Given the description of an element on the screen output the (x, y) to click on. 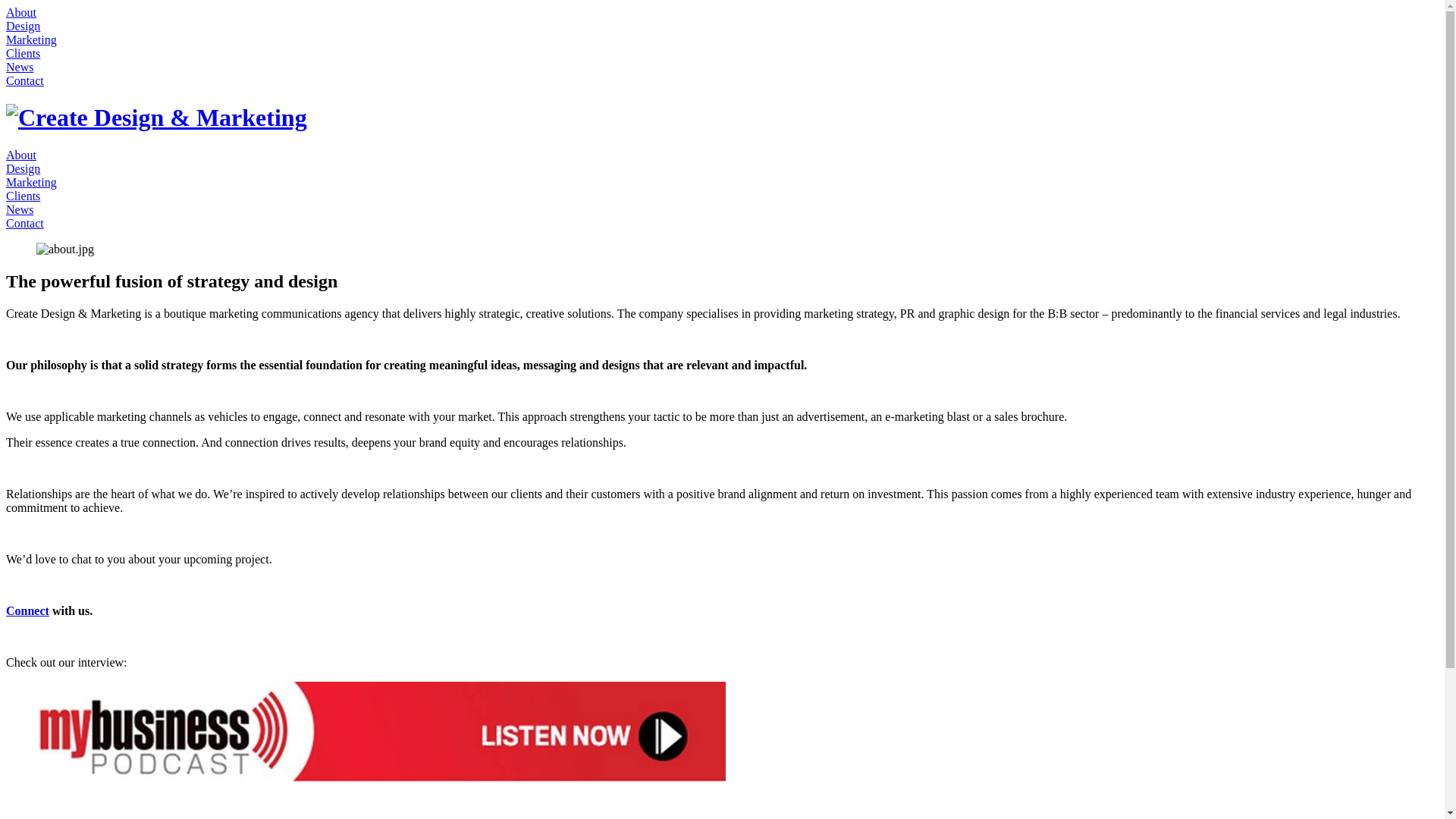
Contact Element type: text (24, 222)
Clients Element type: text (23, 195)
Connect Element type: text (27, 610)
Marketing Element type: text (31, 39)
News Element type: text (19, 209)
Design Element type: text (23, 168)
Design Element type: text (23, 25)
News Element type: text (19, 66)
Clients Element type: text (23, 53)
Contact Element type: text (24, 80)
About Element type: text (21, 154)
Marketing Element type: text (31, 181)
About Element type: text (21, 12)
